Given the description of an element on the screen output the (x, y) to click on. 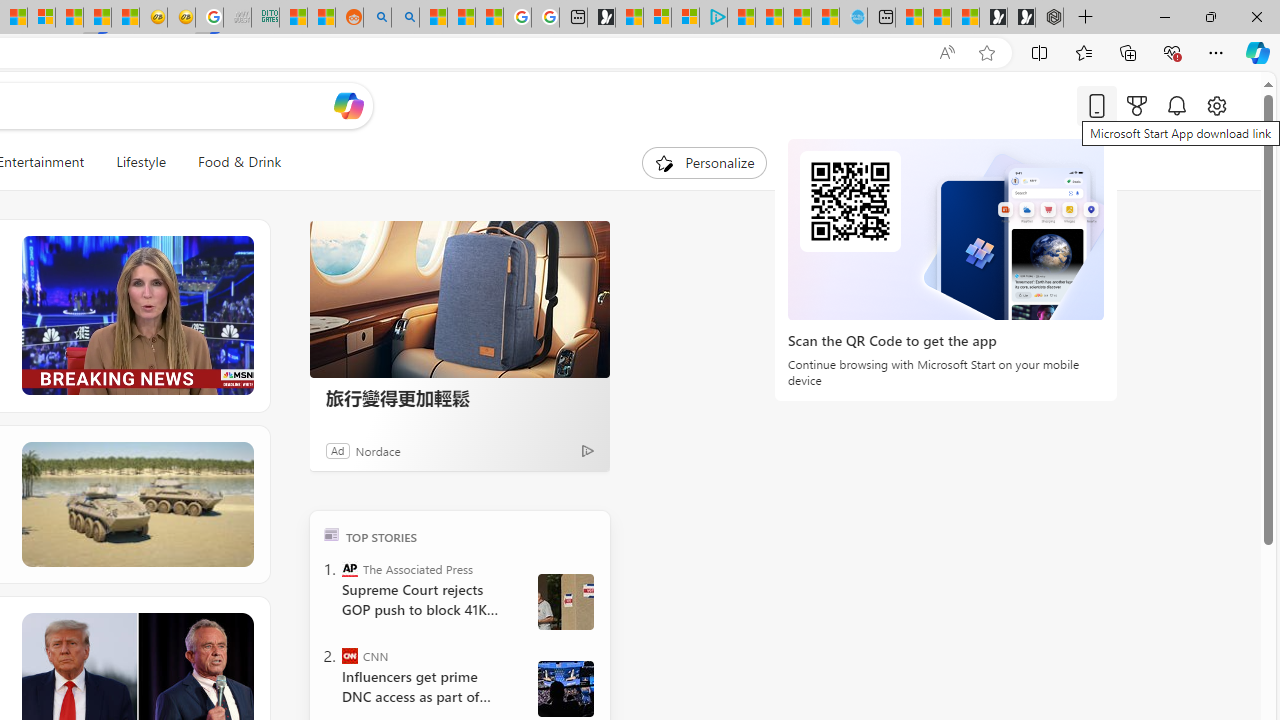
Utah sues federal government - Search (404, 17)
Home | Sky Blue Bikes - Sky Blue Bikes (852, 17)
Food & Drink (231, 162)
